Given the description of an element on the screen output the (x, y) to click on. 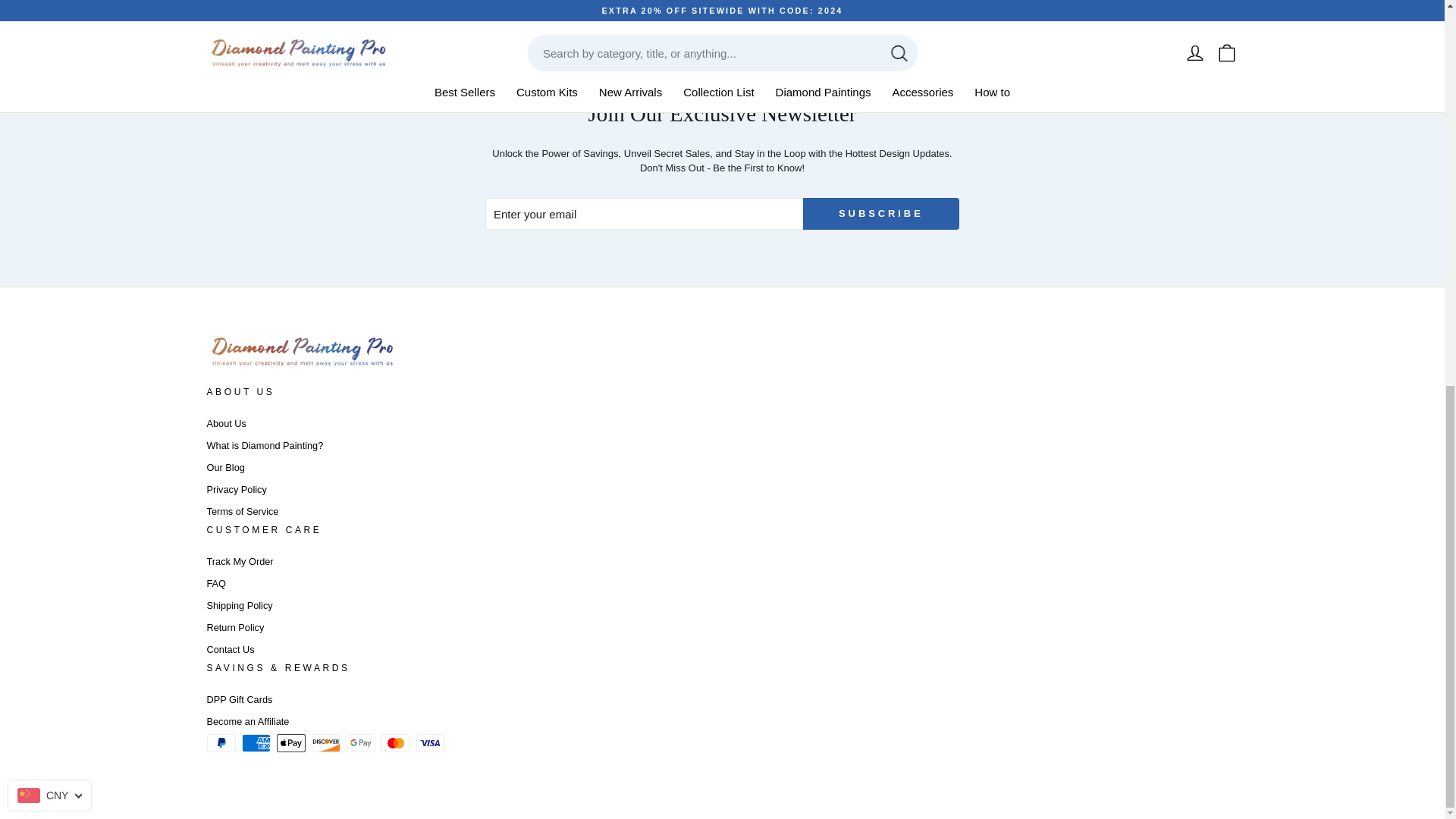
American Express (255, 742)
Apple Pay (290, 742)
Visa (429, 742)
Discover (325, 742)
PayPal (220, 742)
Mastercard (394, 742)
Google Pay (360, 742)
